Given the description of an element on the screen output the (x, y) to click on. 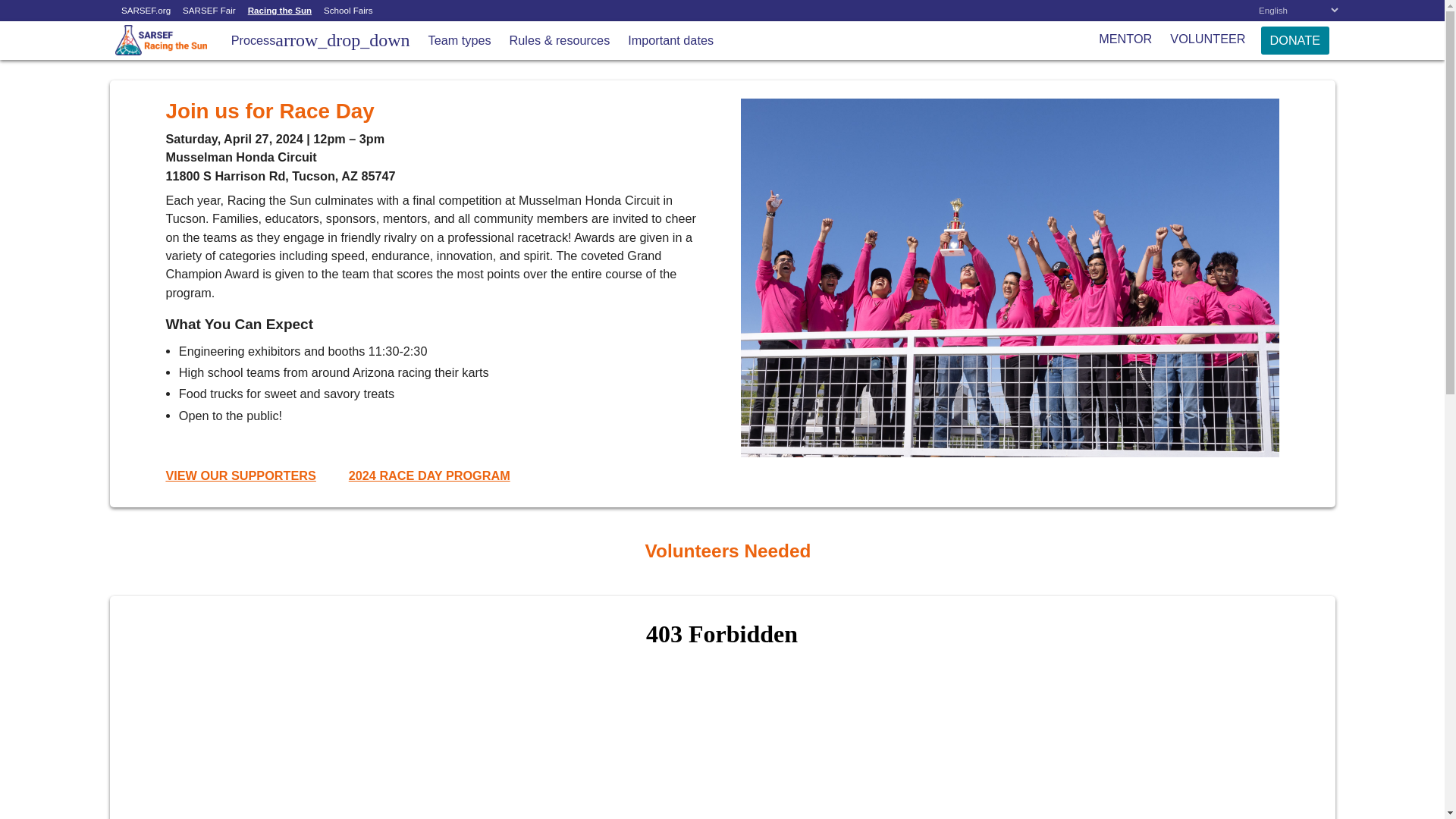
Important dates (670, 40)
MENTOR (1124, 39)
DONATE (1294, 40)
Team types (459, 40)
SARSEF Fair (208, 10)
VOLUNTEER (1206, 39)
School Fairs (347, 10)
VIEW OUR SUPPORTERS (240, 474)
SARSEF (149, 82)
SARSEF.org (145, 10)
